Given the description of an element on the screen output the (x, y) to click on. 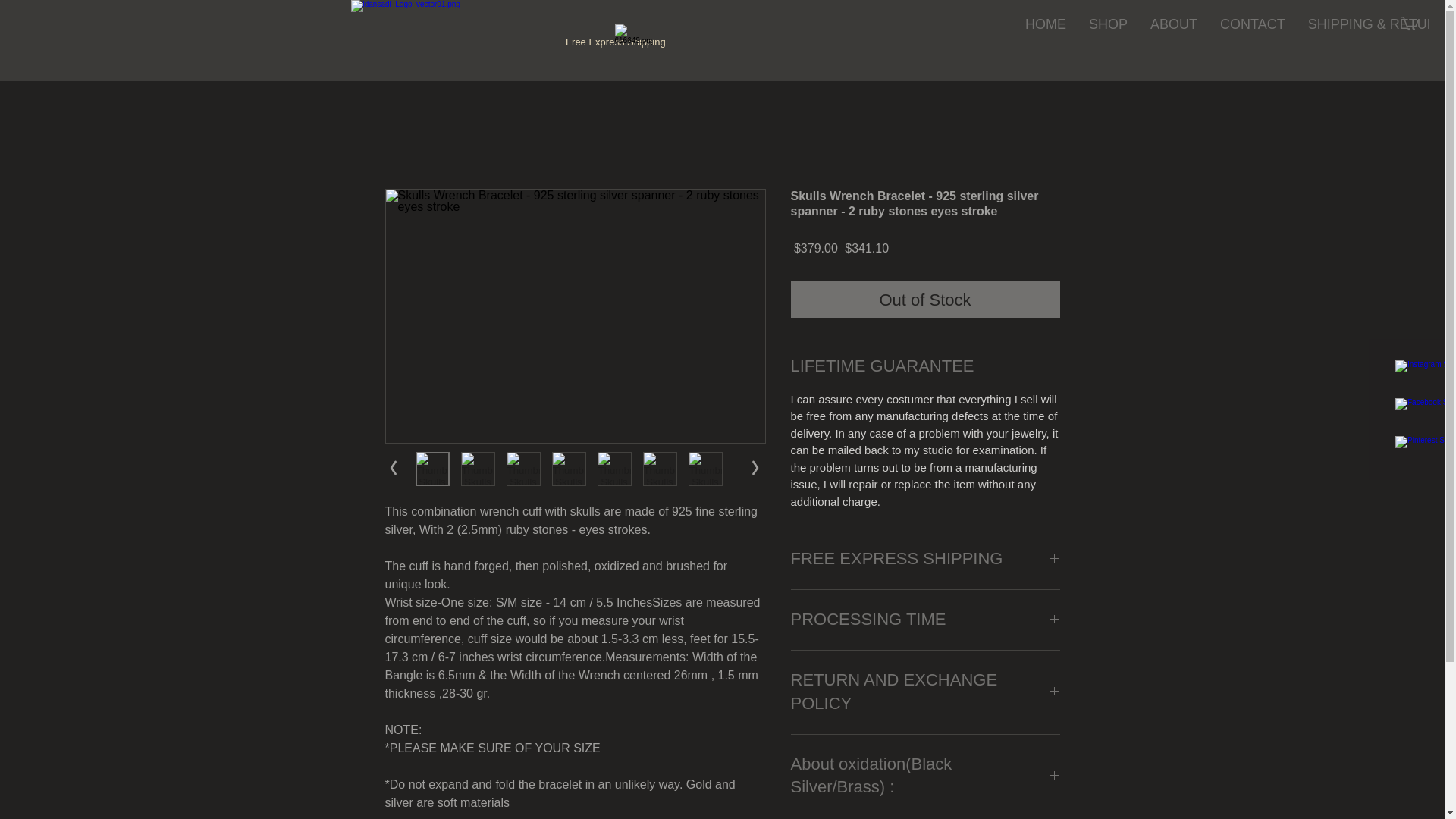
ABOUT (1173, 45)
RETURN AND EXCHANGE POLICY (924, 692)
Out of Stock (924, 299)
HOME (1045, 45)
LIFETIME GUARANTEE (924, 366)
CONTACT (1252, 45)
SHOP (1107, 45)
PROCESSING TIME (924, 619)
FREE EXPRESS SHIPPING (924, 558)
